Given the description of an element on the screen output the (x, y) to click on. 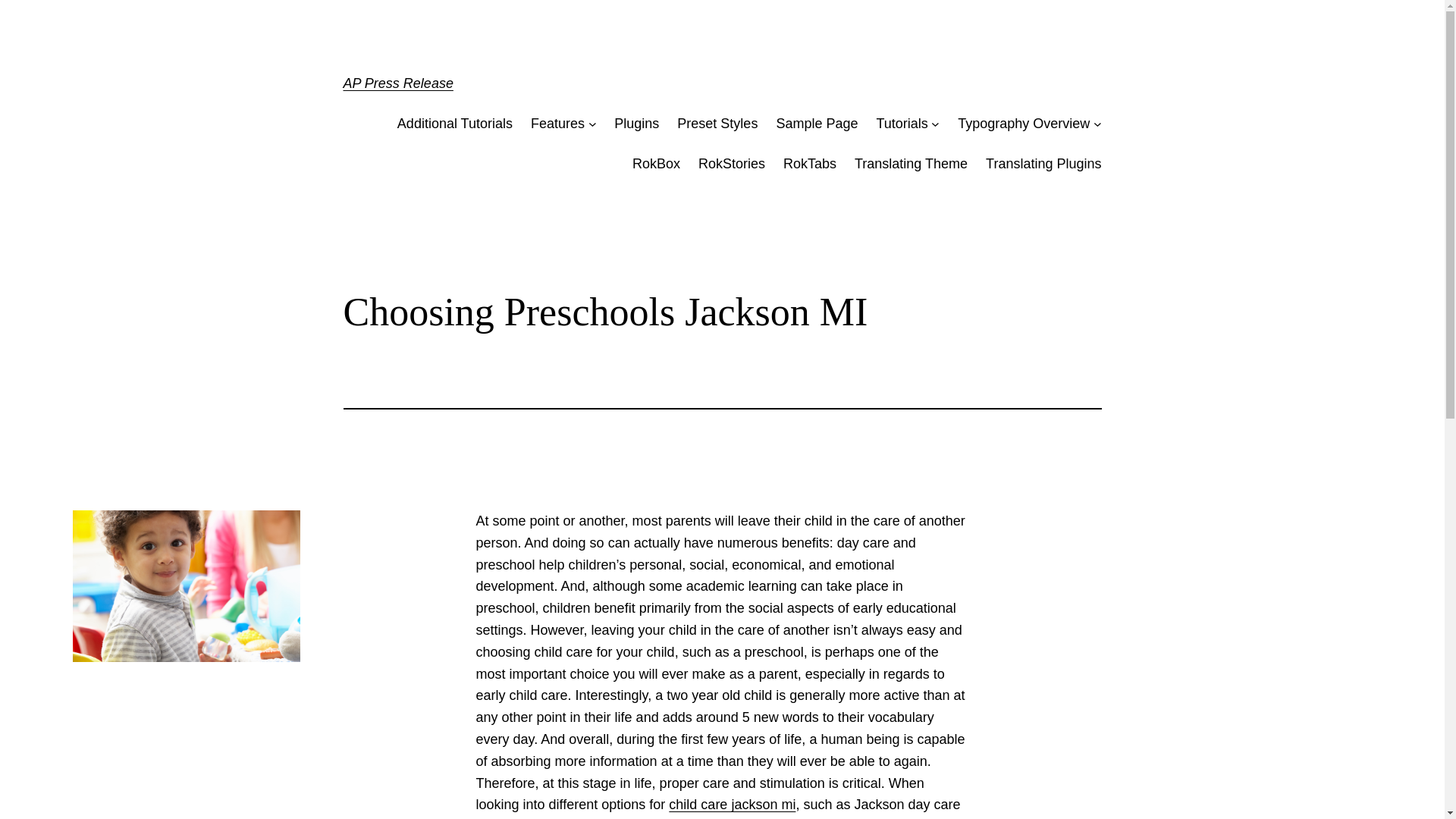
Sample Page (816, 124)
Translating Theme (911, 164)
child care jackson mi (731, 804)
Additional Tutorials (454, 124)
RokStories (731, 164)
RokTabs (809, 164)
Translating Plugins (1042, 164)
Preset Styles (717, 124)
Tutorials (901, 124)
RokBox (655, 164)
